Given the description of an element on the screen output the (x, y) to click on. 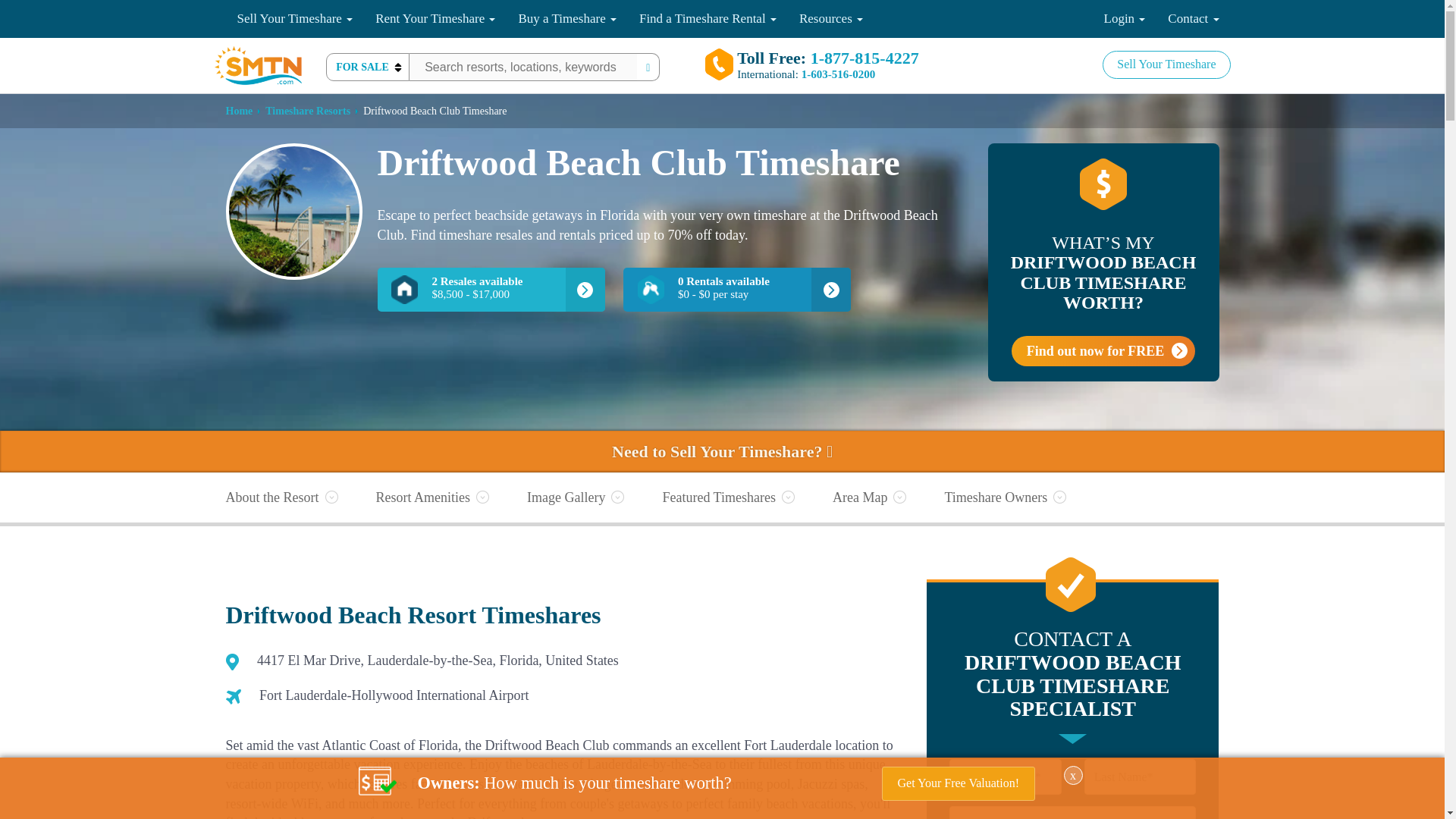
Buy a Timeshare (566, 18)
Find a Timeshare Rental (707, 18)
Rent Your Timeshare (435, 18)
For Sale (367, 67)
Resources (831, 18)
Sell Your Timeshare (295, 18)
